Given the description of an element on the screen output the (x, y) to click on. 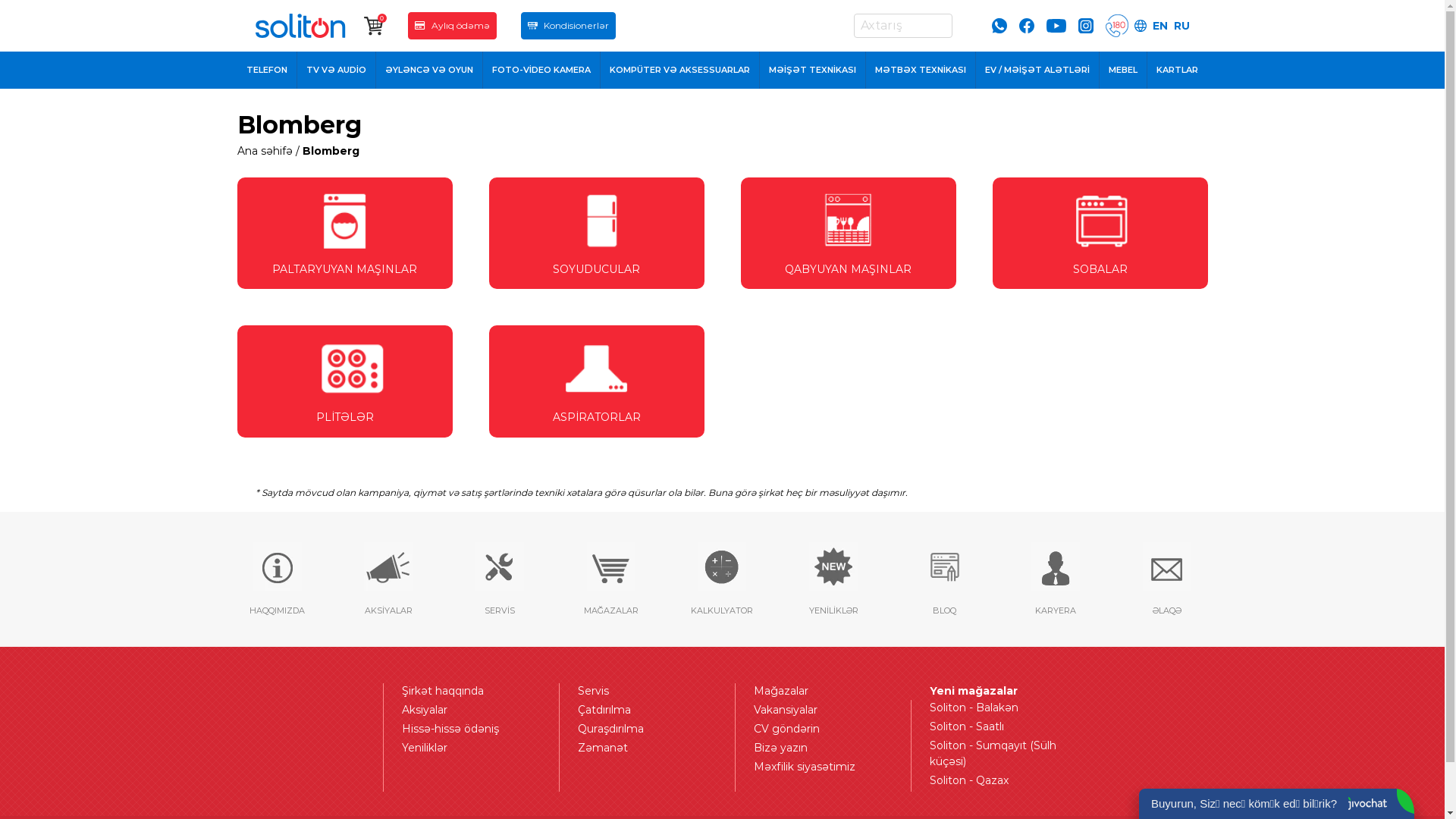
KARYERA Element type: text (1055, 579)
KARTLAR Element type: text (1177, 69)
BLOQ Element type: text (944, 579)
0 Element type: text (373, 25)
Soliton - Qazax Element type: text (995, 780)
MEBEL Element type: text (1123, 69)
EN Element type: text (1159, 25)
Aksiyalar Element type: text (467, 710)
SOYUDUCULAR Element type: text (595, 233)
RU Element type: text (1181, 25)
SOBALAR Element type: text (1099, 233)
Servis Element type: text (643, 691)
Vakansiyalar Element type: text (819, 710)
TELEFON Element type: text (267, 69)
KALKULYATOR Element type: text (721, 579)
HAQQIMIZDA Element type: text (276, 579)
